Given the description of an element on the screen output the (x, y) to click on. 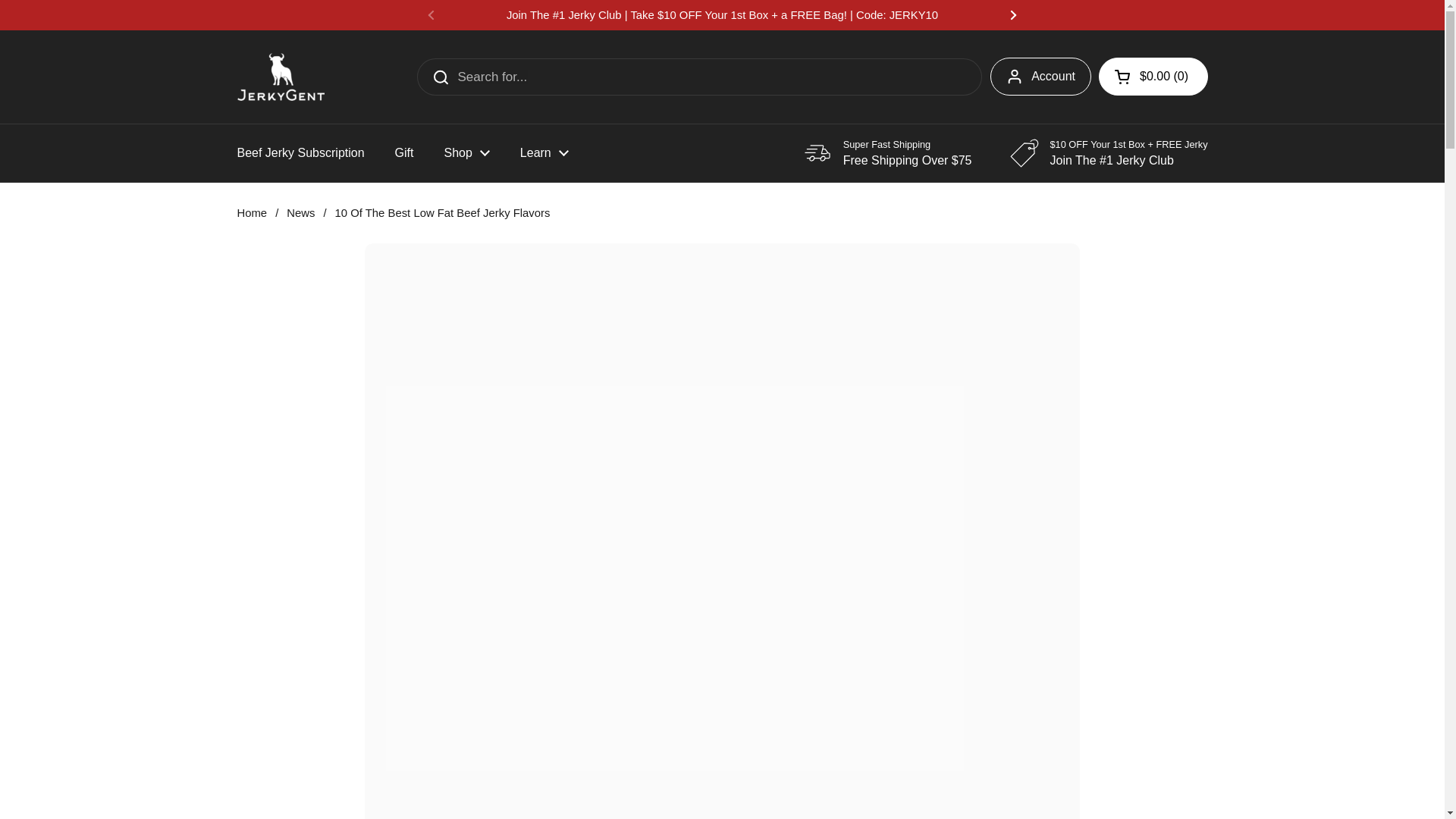
Account (1040, 76)
Gift (404, 152)
Gift (404, 152)
Beef Jerky Subscription (299, 152)
Learn (544, 152)
Open cart (1153, 76)
Shop (465, 152)
Shop (465, 152)
JerkyGent (279, 76)
